Given the description of an element on the screen output the (x, y) to click on. 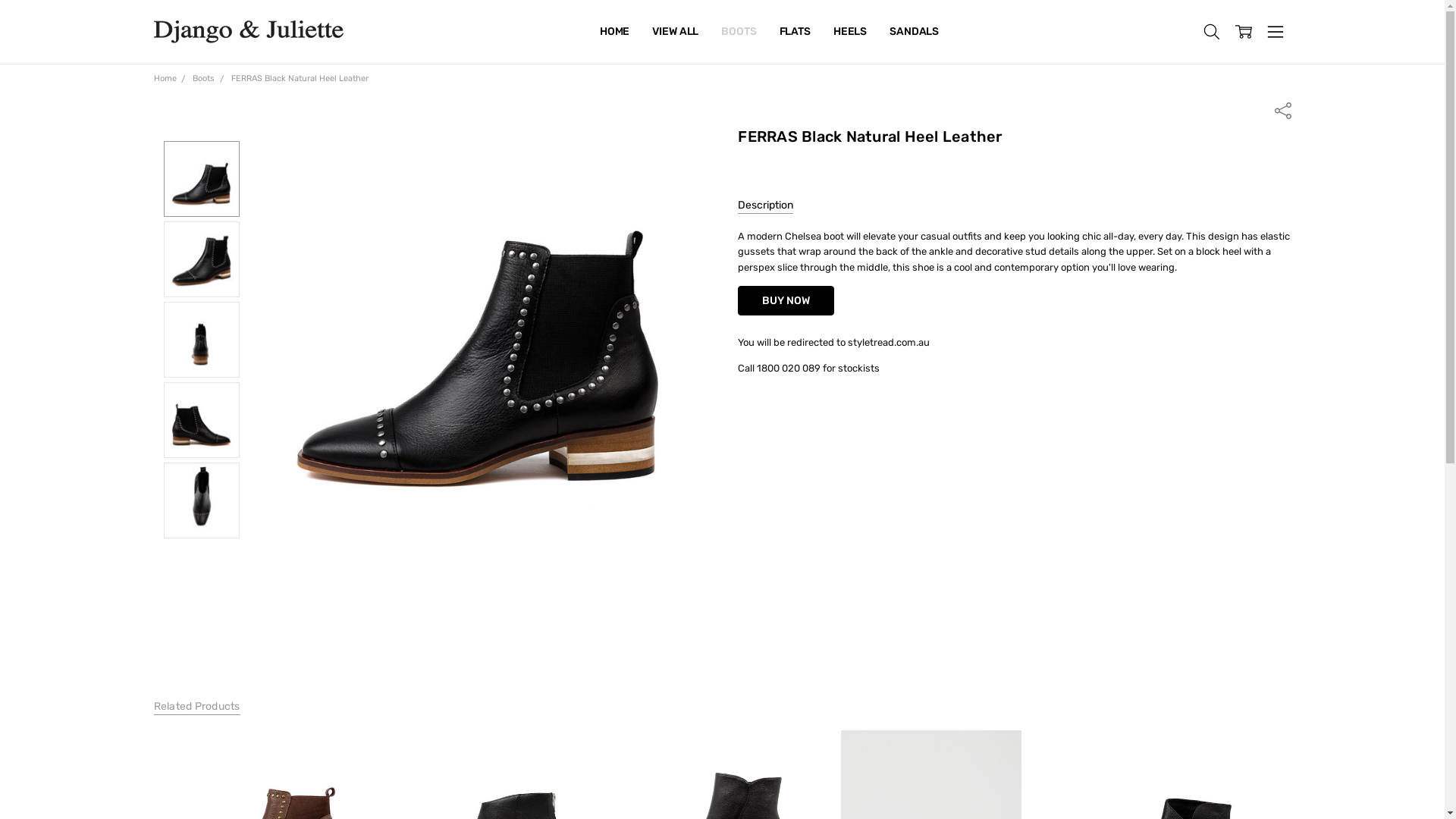
BOOTS Element type: text (738, 31)
FERRAS Black Natural Heel Leather Element type: hover (477, 329)
FERRAS Black Natural Heel Leather Element type: hover (201, 419)
SANDALS Element type: text (914, 31)
Description Element type: text (765, 205)
ABOUT DJANGO & JULIETTE Element type: text (670, 31)
BECOME A STOCKIST Element type: text (652, 31)
FERRAS Black Natural Heel Leather Element type: hover (201, 500)
Boots Element type: text (203, 78)
CONTACT US Element type: text (632, 31)
FERRAS Black Natural Heel Leather Element type: hover (201, 178)
VIEW ALL Element type: text (674, 31)
SHOP OUR INSTAGRAM Element type: text (656, 31)
Show All Element type: hover (607, 31)
BUY NOW Element type: text (785, 300)
FIND A STOCKIST Element type: text (642, 31)
FERRAS Black Natural Heel Leather Element type: text (299, 78)
HEELS Element type: text (850, 31)
FLATS Element type: text (795, 31)
Django and Juliette Element type: hover (247, 31)
HOME Element type: text (614, 31)
PRIVACY POLICY Element type: text (641, 31)
SILENT D BY DJANGO & JULIETTE Element type: text (683, 31)
Share Element type: text (1282, 109)
Home Element type: text (164, 78)
FERRAS Black Natural Heel Leather Element type: hover (201, 259)
FERRAS Black Natural Heel Leather Element type: hover (201, 339)
